Given the description of an element on the screen output the (x, y) to click on. 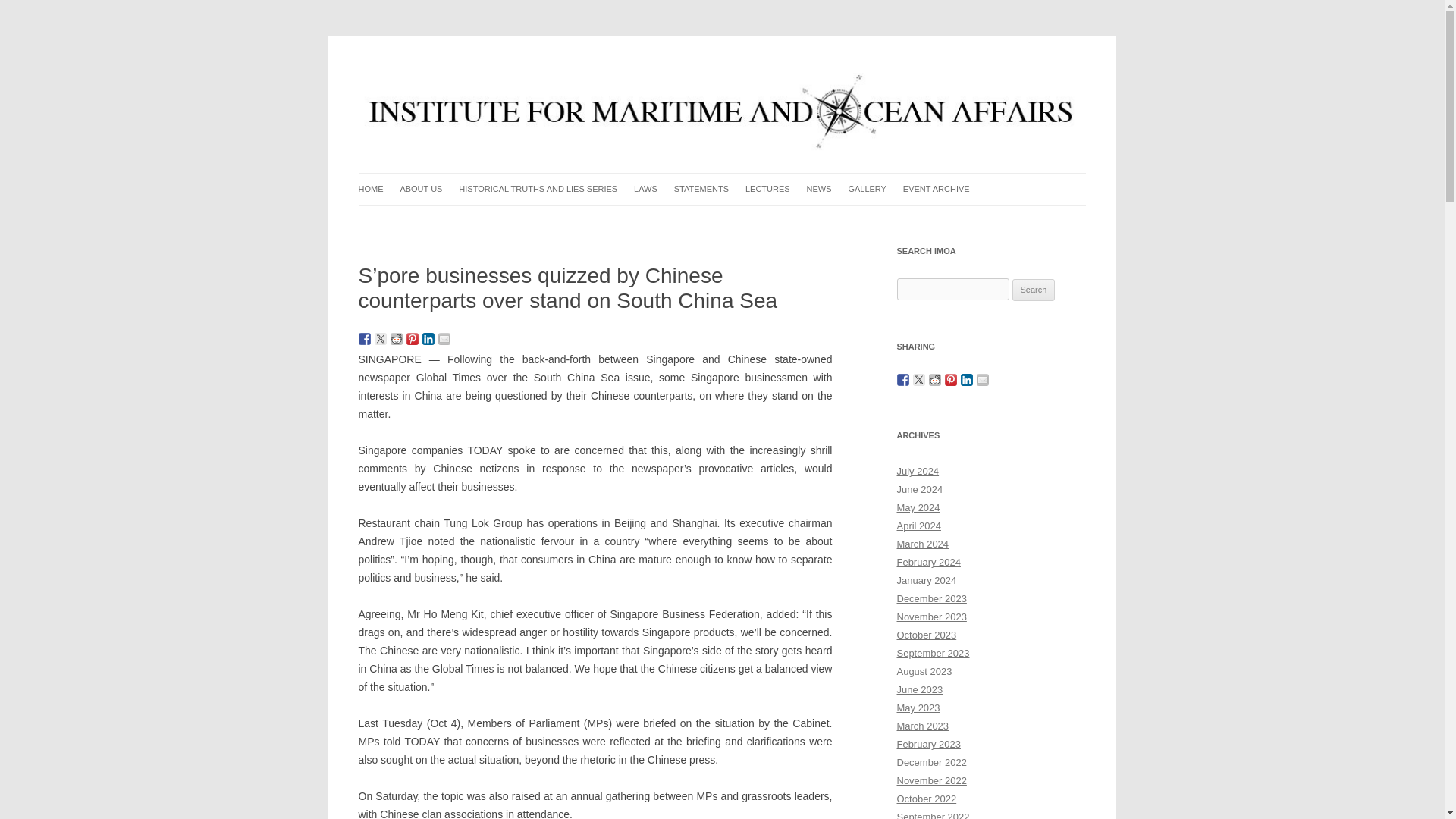
Institute for Maritime and Ocean Affairs (542, 72)
Share on Reddit (395, 338)
Search (1033, 290)
Skip to content (757, 177)
Institute for Maritime and Ocean Affairs (542, 72)
ABOUT US (420, 188)
Pin it with Pinterest (412, 338)
HISTORICAL TRUTHS AND LIES SERIES (537, 188)
Relevant Philippine Laws (709, 219)
Share on Linkedin (427, 338)
